Given the description of an element on the screen output the (x, y) to click on. 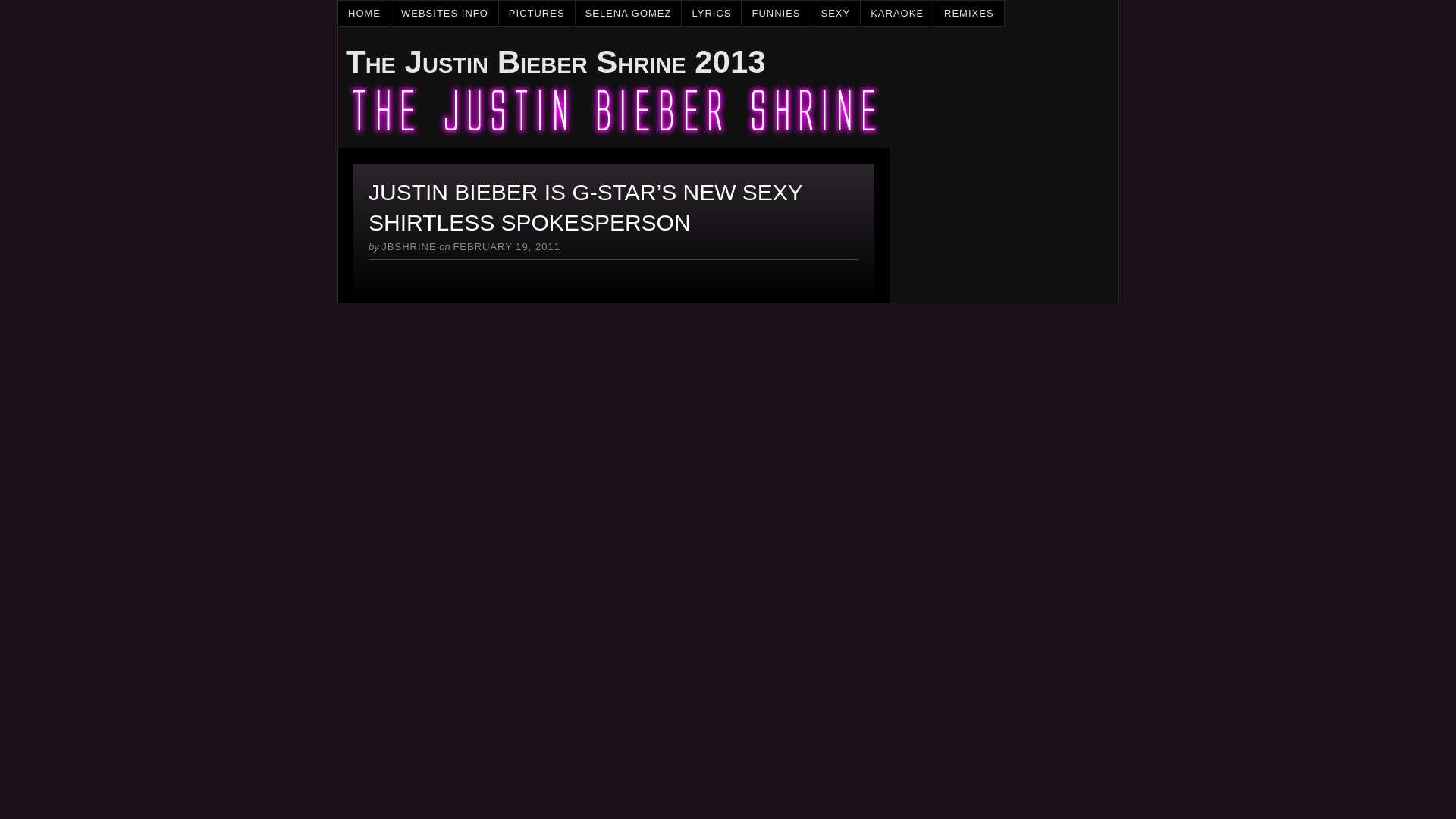
FUNNIES (775, 13)
REMIXES (969, 13)
KARAOKE (897, 13)
SEXY (835, 13)
LYRICS (711, 13)
PICTURES (537, 13)
WEBSITES INFO (445, 13)
2011-02-19 (506, 246)
SELENA GOMEZ (628, 13)
HOME (364, 13)
